Given the description of an element on the screen output the (x, y) to click on. 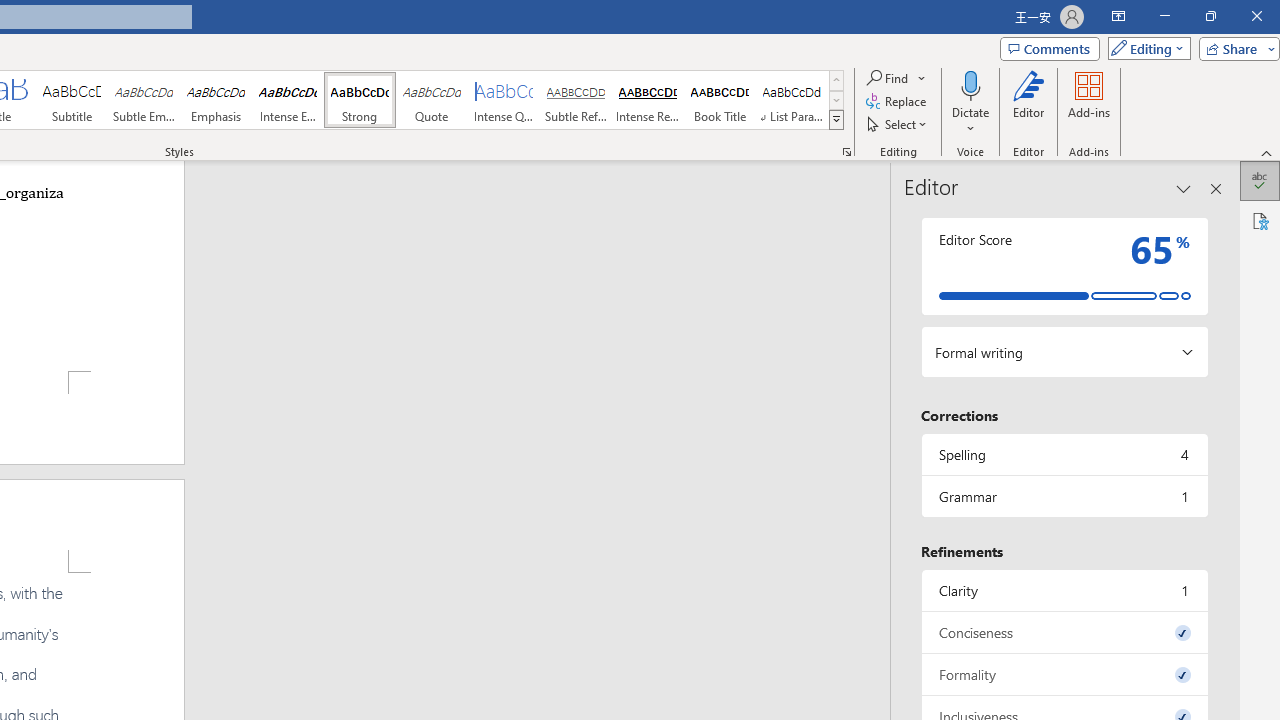
Editor Score 65% (1064, 266)
Accessibility (1260, 220)
Intense Reference (647, 100)
Book Title (719, 100)
